Given the description of an element on the screen output the (x, y) to click on. 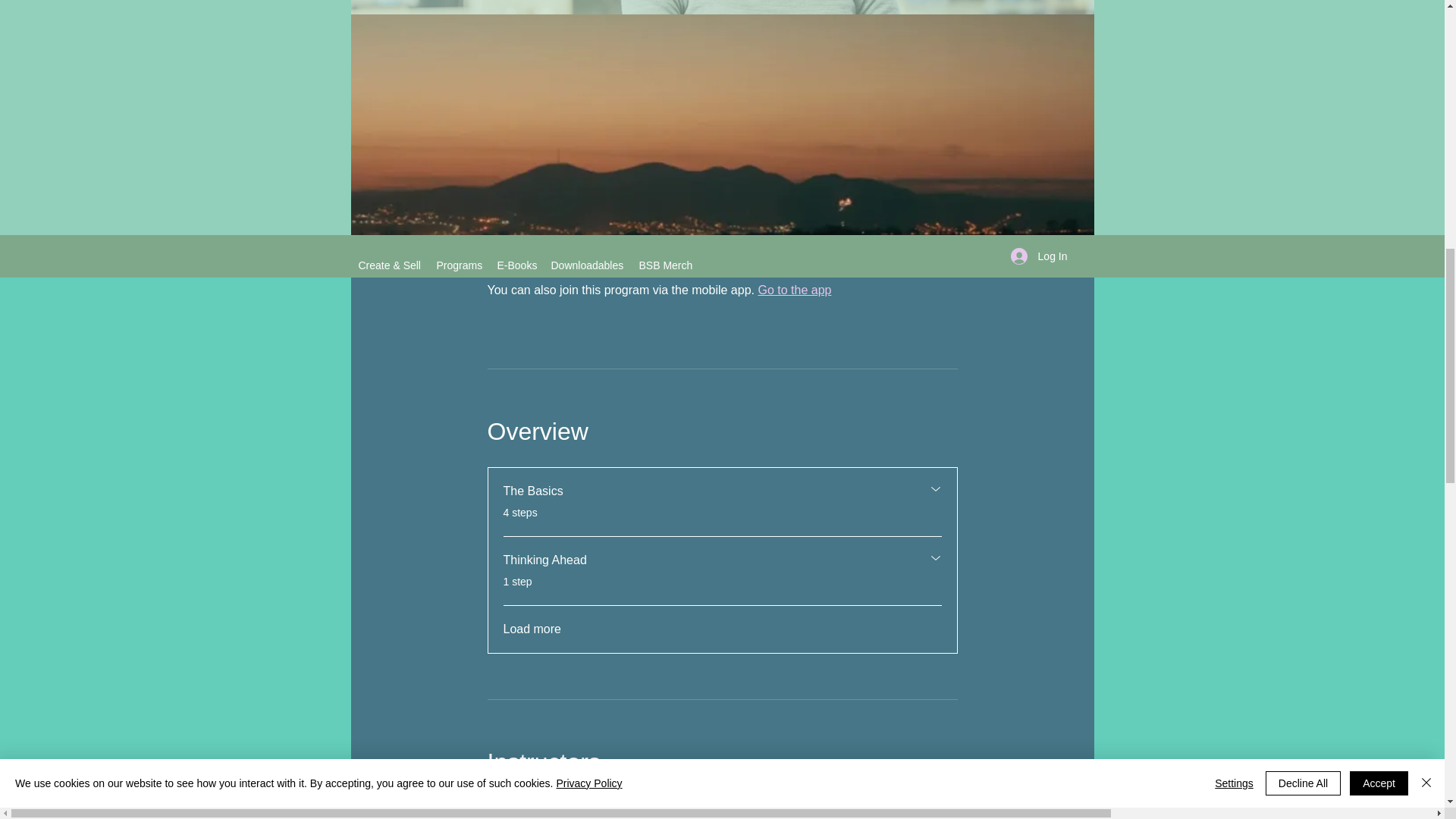
Rose (721, 808)
Load more (716, 501)
Go to the app (716, 570)
